Given the description of an element on the screen output the (x, y) to click on. 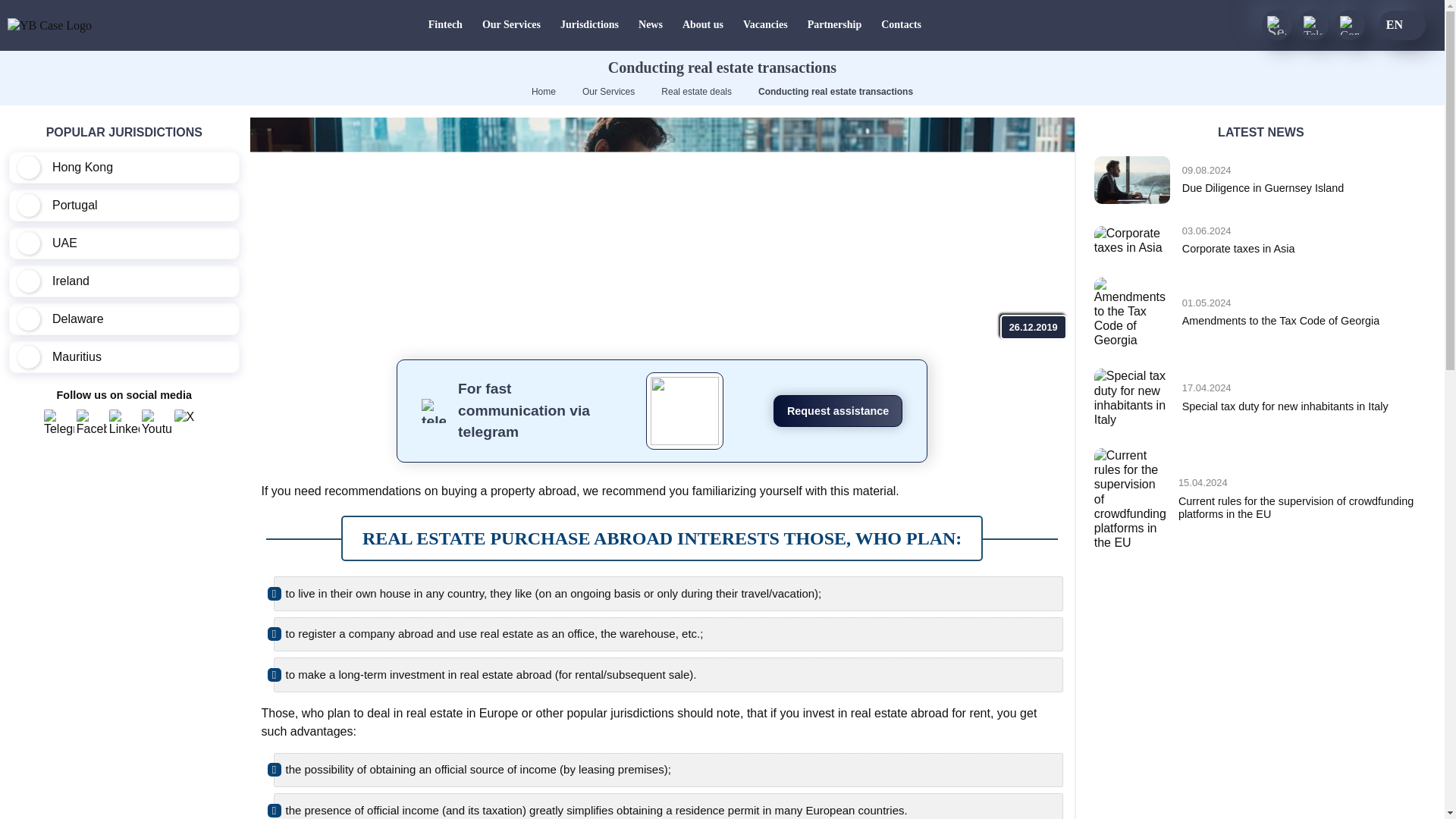
EN (1401, 24)
UAE (124, 243)
Contacts (900, 25)
News (650, 25)
Partnership (1260, 179)
Real estate deals (834, 25)
Hong Kong (696, 91)
Fintech (124, 167)
Our Services (445, 25)
